Given the description of an element on the screen output the (x, y) to click on. 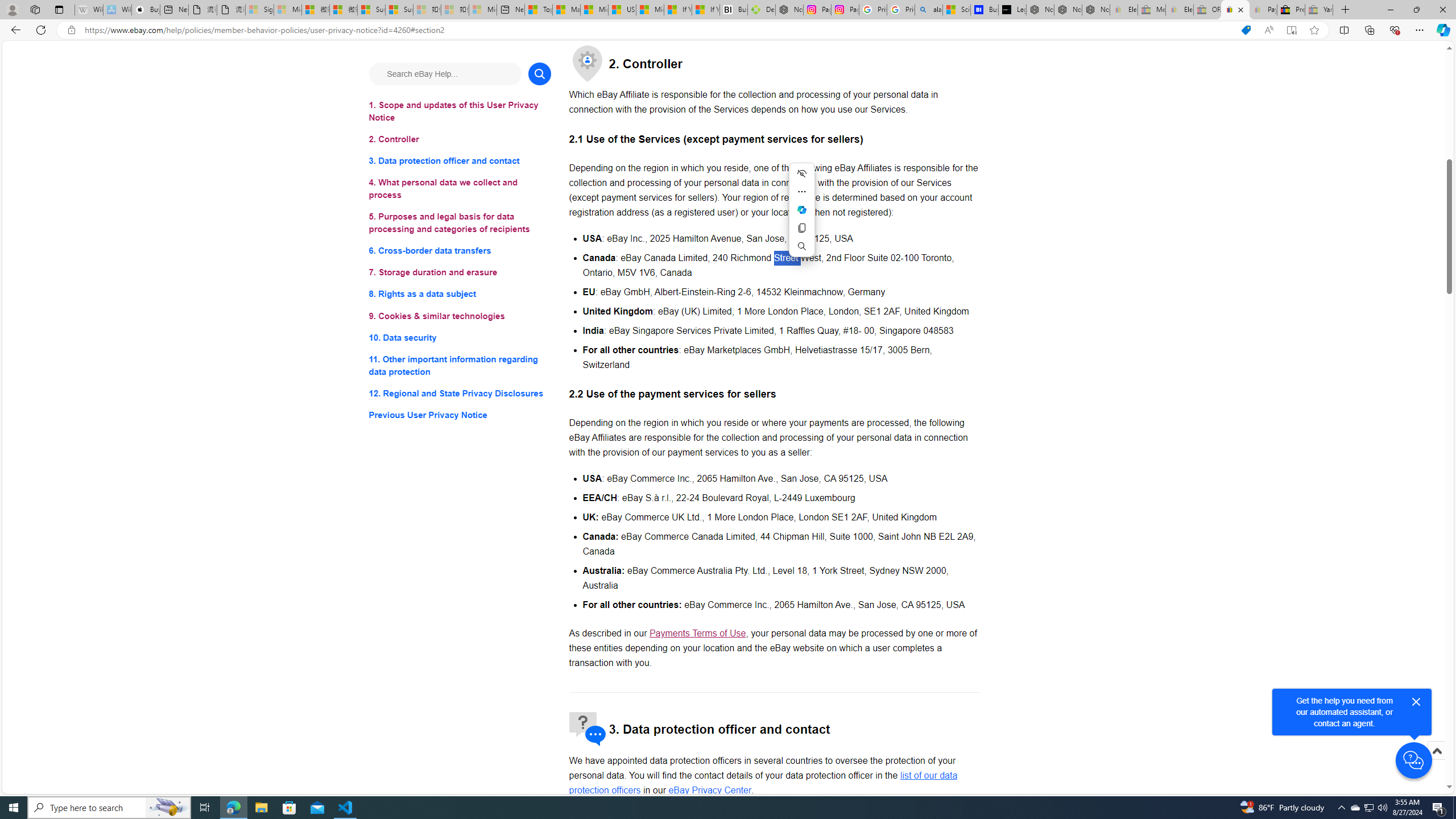
Ask Copilot (801, 209)
1. Scope and updates of this User Privacy Notice (459, 111)
8. Rights as a data subject (459, 293)
3. Data protection officer and contact (459, 160)
12. Regional and State Privacy Disclosures (459, 392)
9. Cookies & similar technologies (459, 315)
12. Regional and State Privacy Disclosures (459, 392)
11. Other important information regarding data protection (459, 365)
8. Rights as a data subject (459, 293)
